Given the description of an element on the screen output the (x, y) to click on. 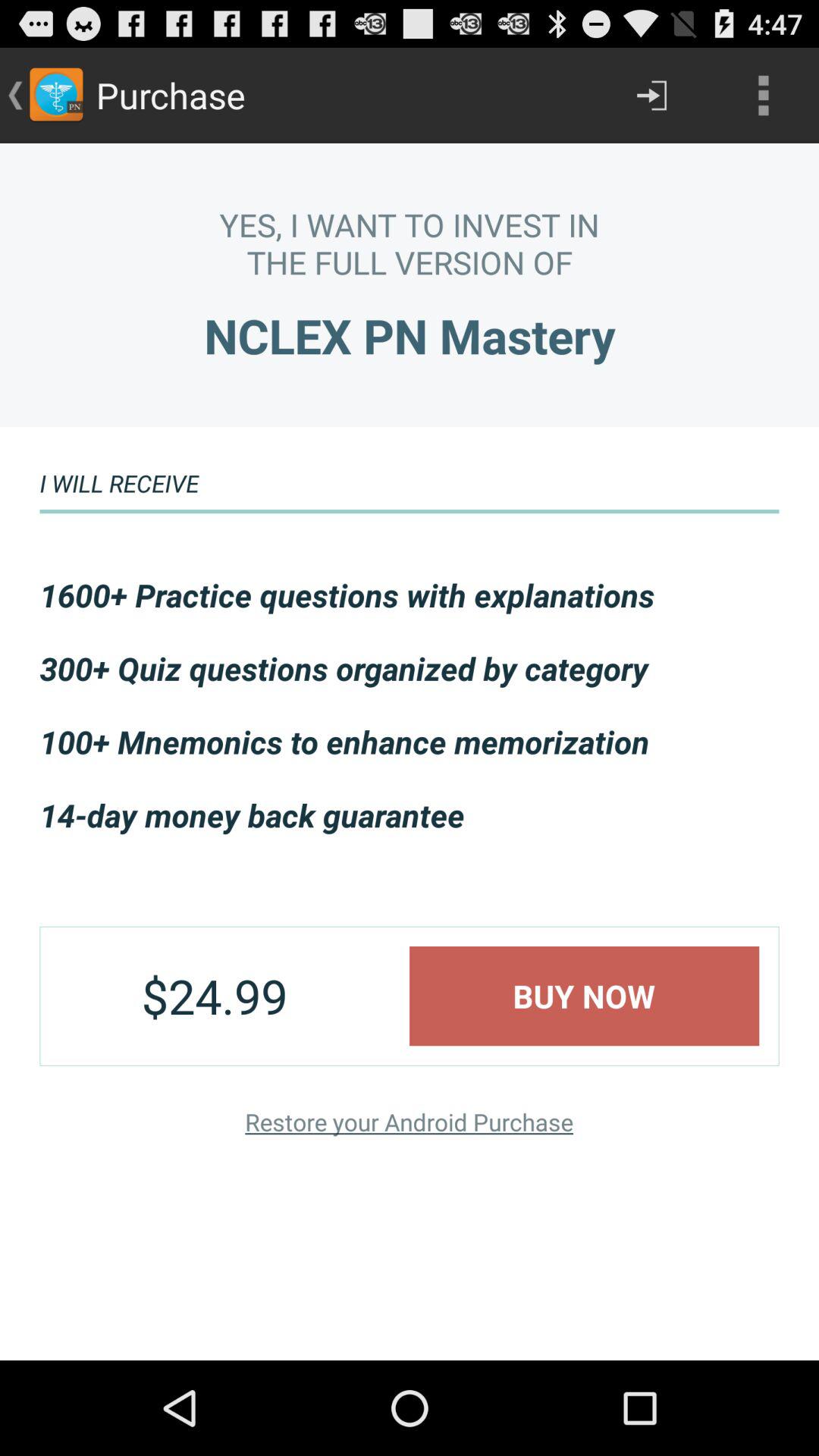
choose the item above the restore your android app (584, 995)
